Given the description of an element on the screen output the (x, y) to click on. 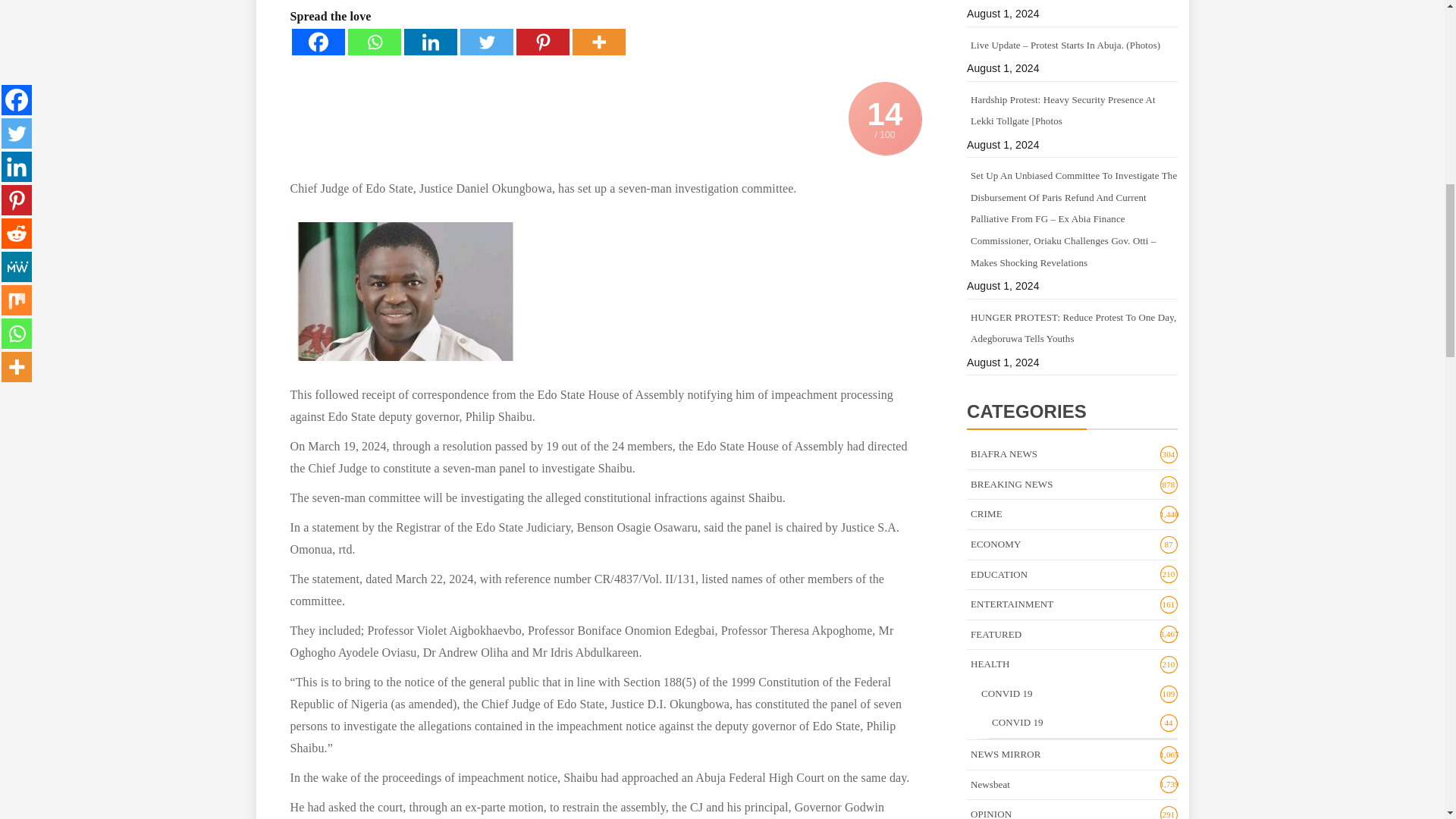
Facebook (317, 41)
Twitter (486, 41)
Pinterest (542, 41)
Linkedin (430, 41)
Whatsapp (373, 41)
More (598, 41)
